Given the description of an element on the screen output the (x, y) to click on. 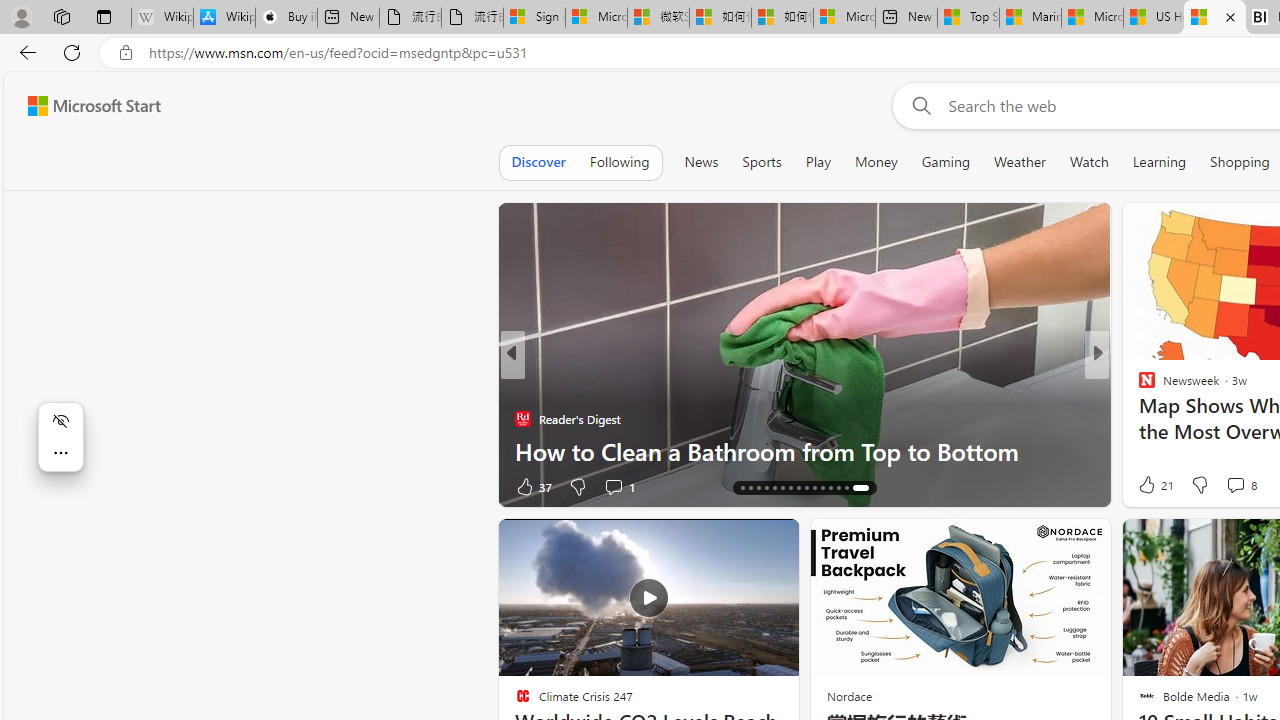
173 Like (1151, 486)
View comments 1 Comment (1229, 485)
Gaming (945, 161)
303 Like (1151, 486)
View comments 265 Comment (1247, 486)
Money (875, 161)
AutomationID: tab-23 (810, 487)
Shopping (1240, 161)
View comments 1 Comment (1234, 486)
